Given the description of an element on the screen output the (x, y) to click on. 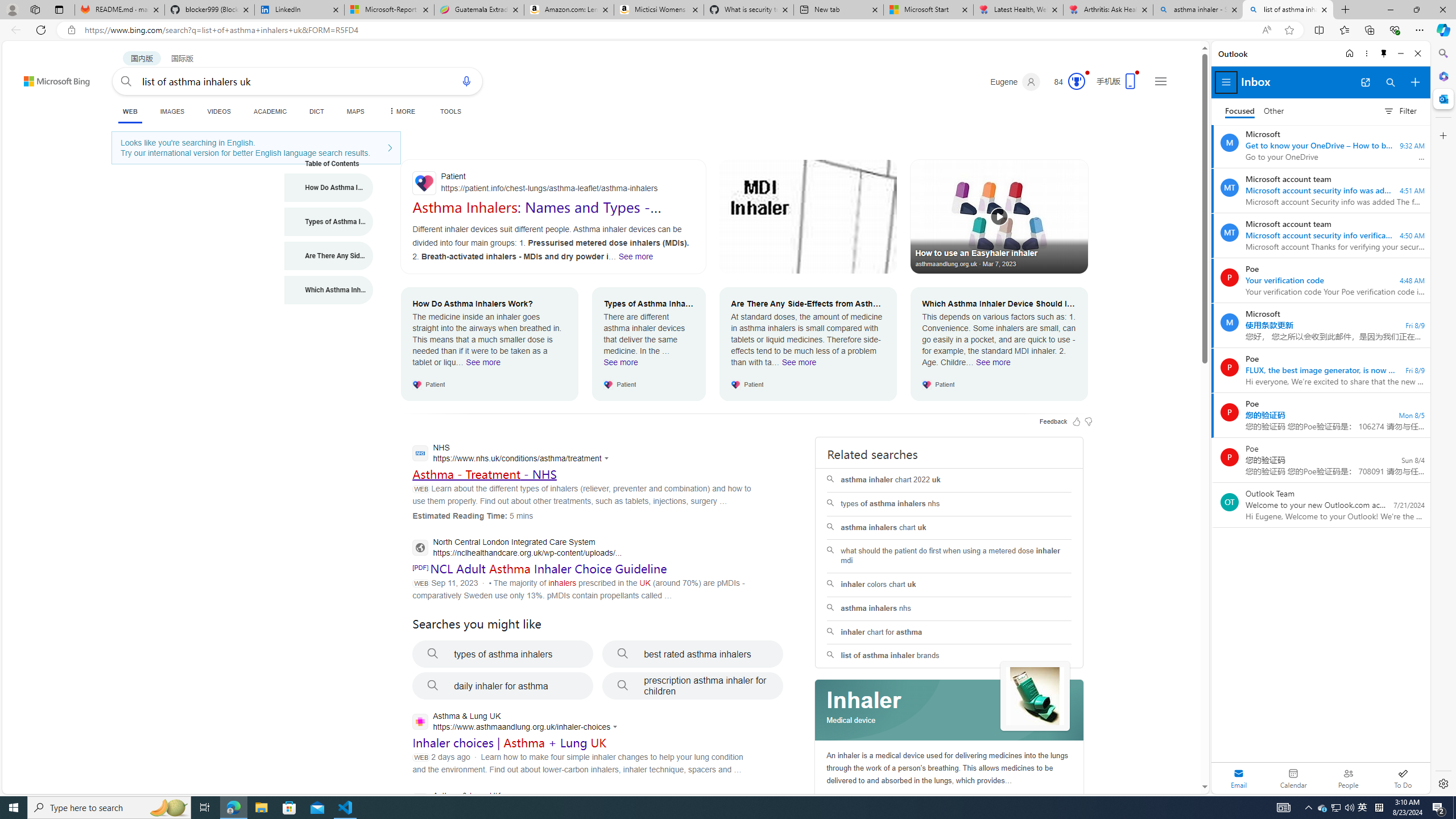
prescription asthma inhaler for children (692, 685)
Animation (1086, 72)
MAPS (355, 111)
Estimated Reading Time: 5 mins (472, 515)
